Given the description of an element on the screen output the (x, y) to click on. 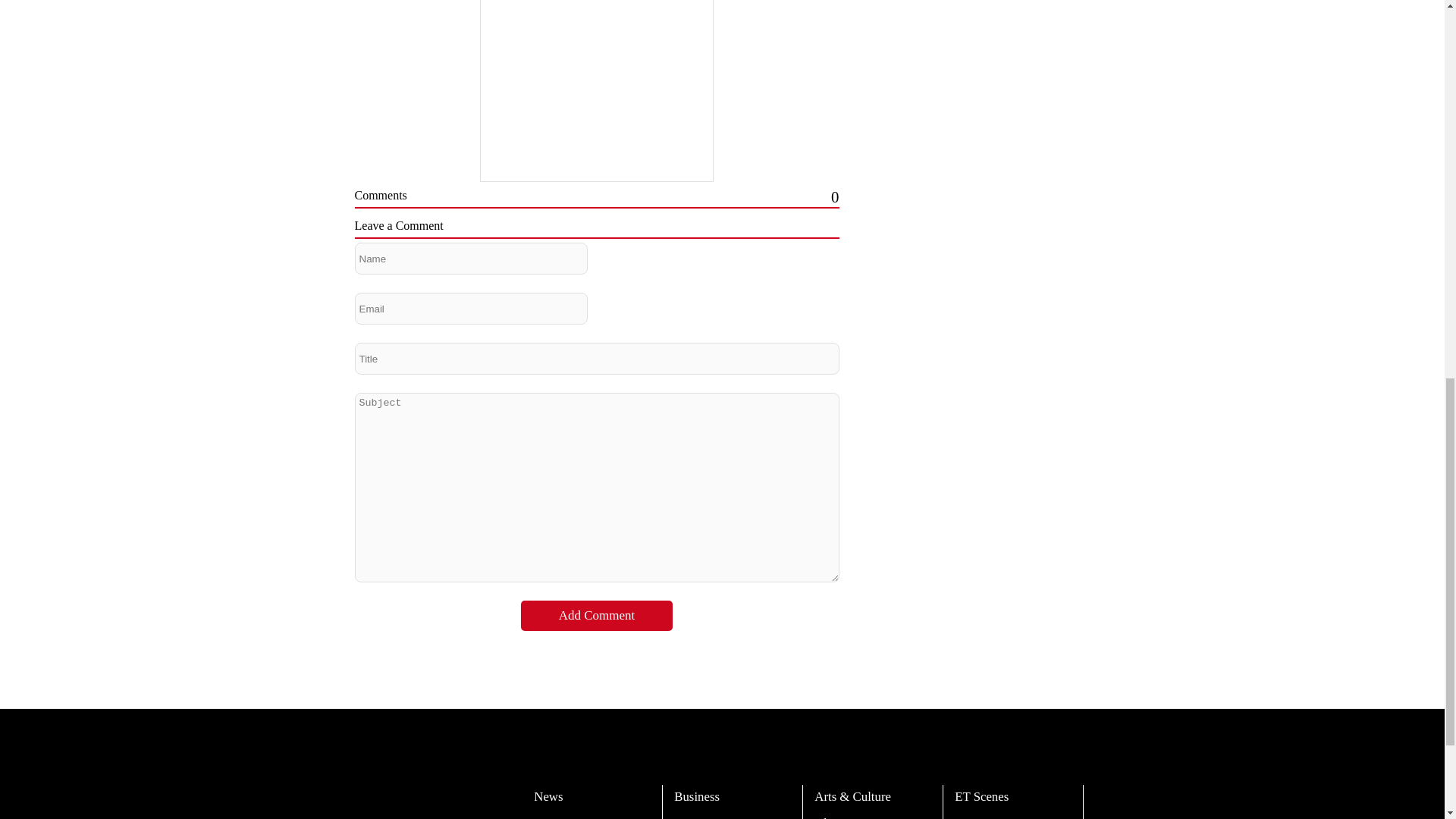
Add Comment (596, 615)
